Given the description of an element on the screen output the (x, y) to click on. 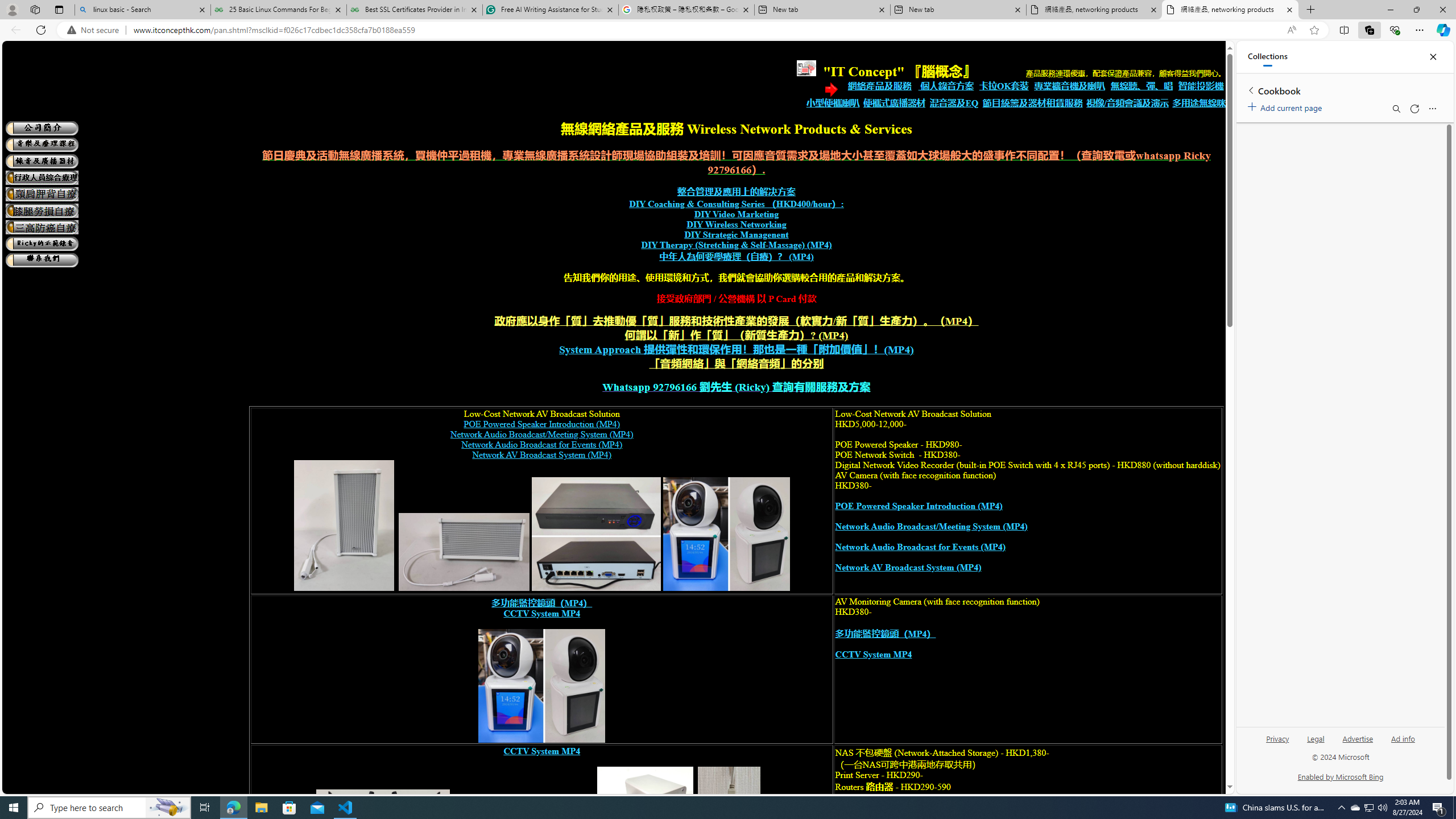
POE Powered Speaker Introduction (MP4) (918, 506)
Not secure (95, 29)
More options menu (1432, 108)
